Given the description of an element on the screen output the (x, y) to click on. 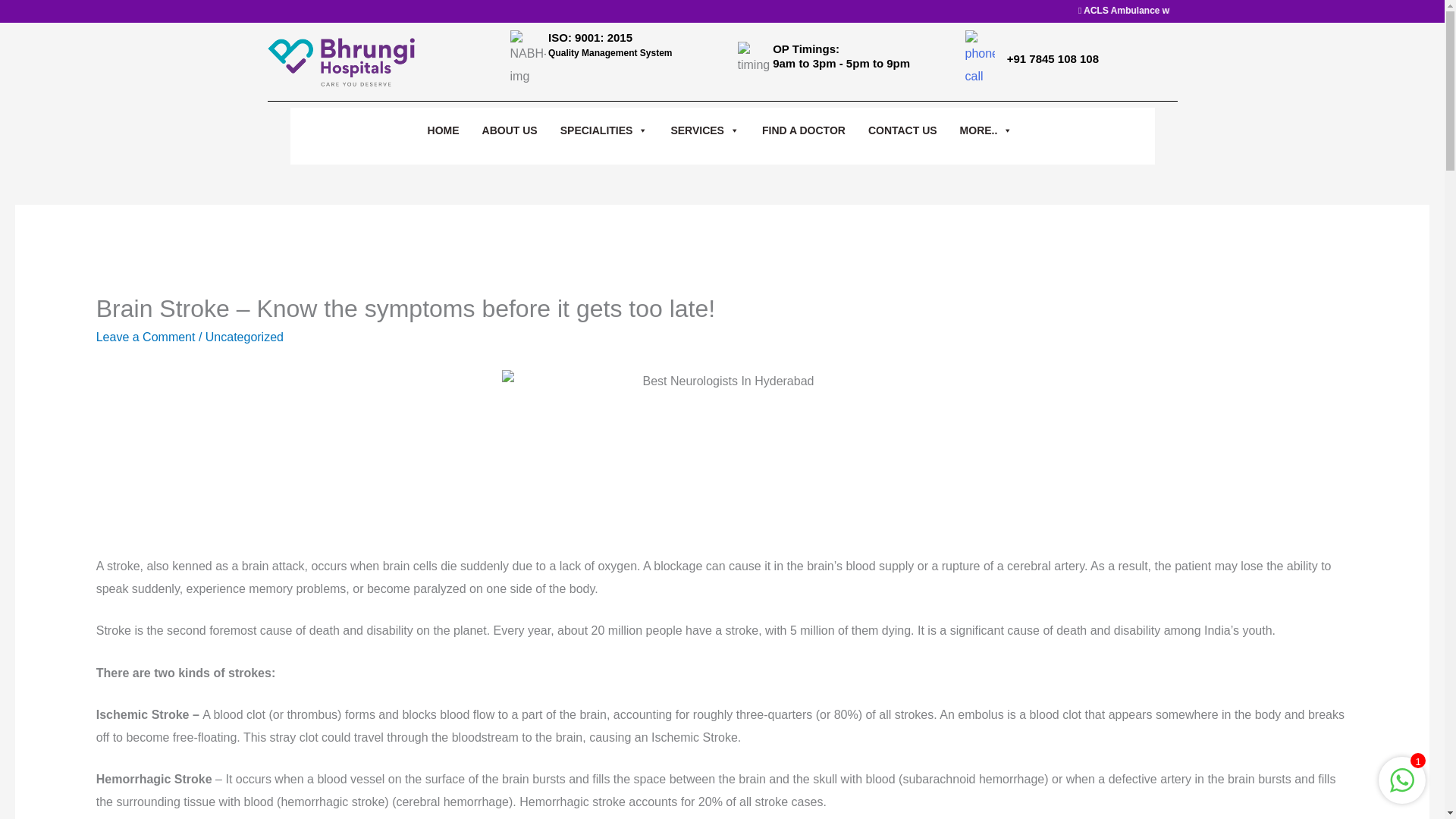
ABOUT US (509, 130)
WhatsApp Image 2021 11 26 at 17.45.43 2 (722, 453)
MORE.. (986, 130)
CONTACT US (902, 130)
SPECIALITIES (604, 130)
FIND A DOCTOR (803, 130)
SERVICES (704, 130)
HOME (443, 130)
